Given the description of an element on the screen output the (x, y) to click on. 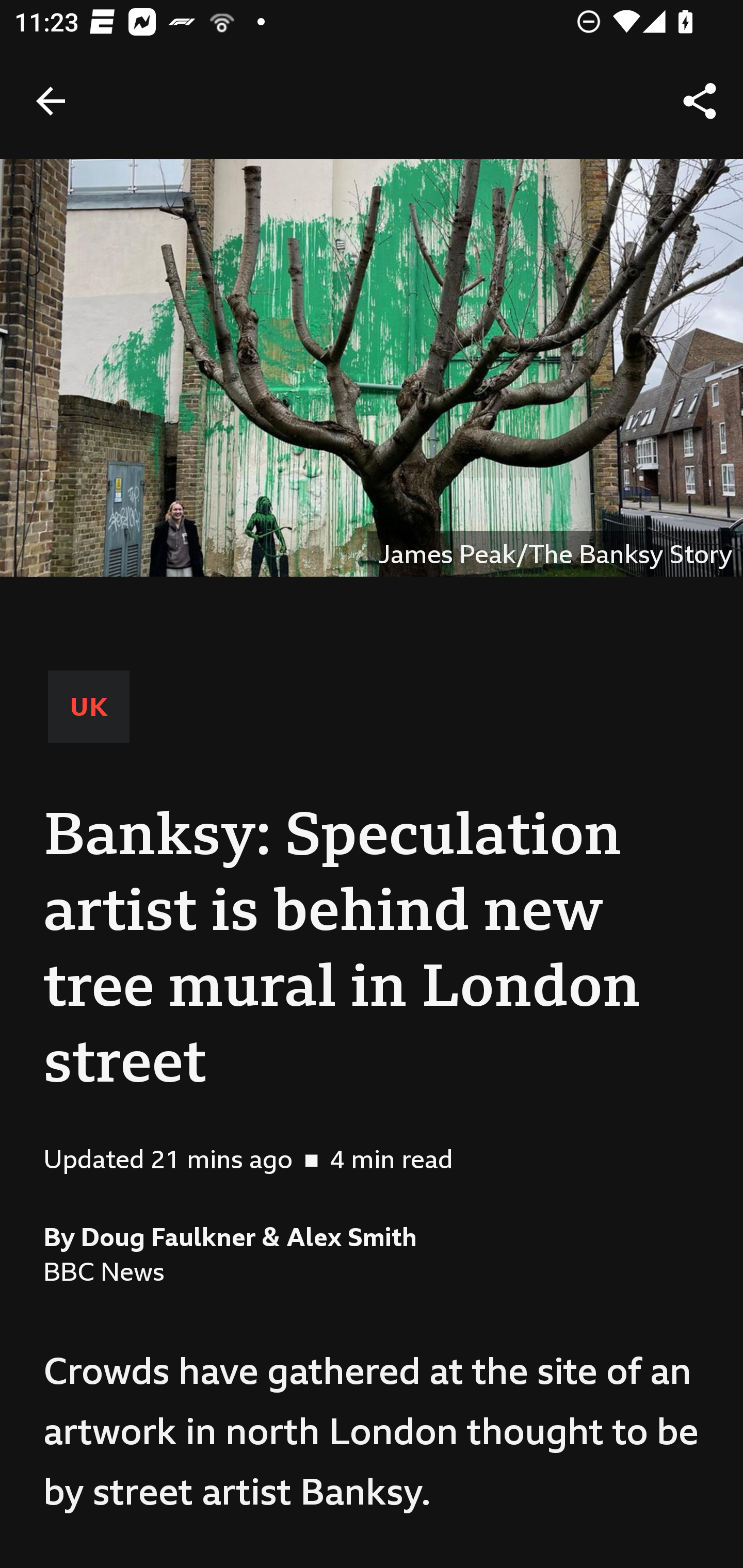
Back (50, 101)
Share (699, 101)
UK (88, 706)
